Given the description of an element on the screen output the (x, y) to click on. 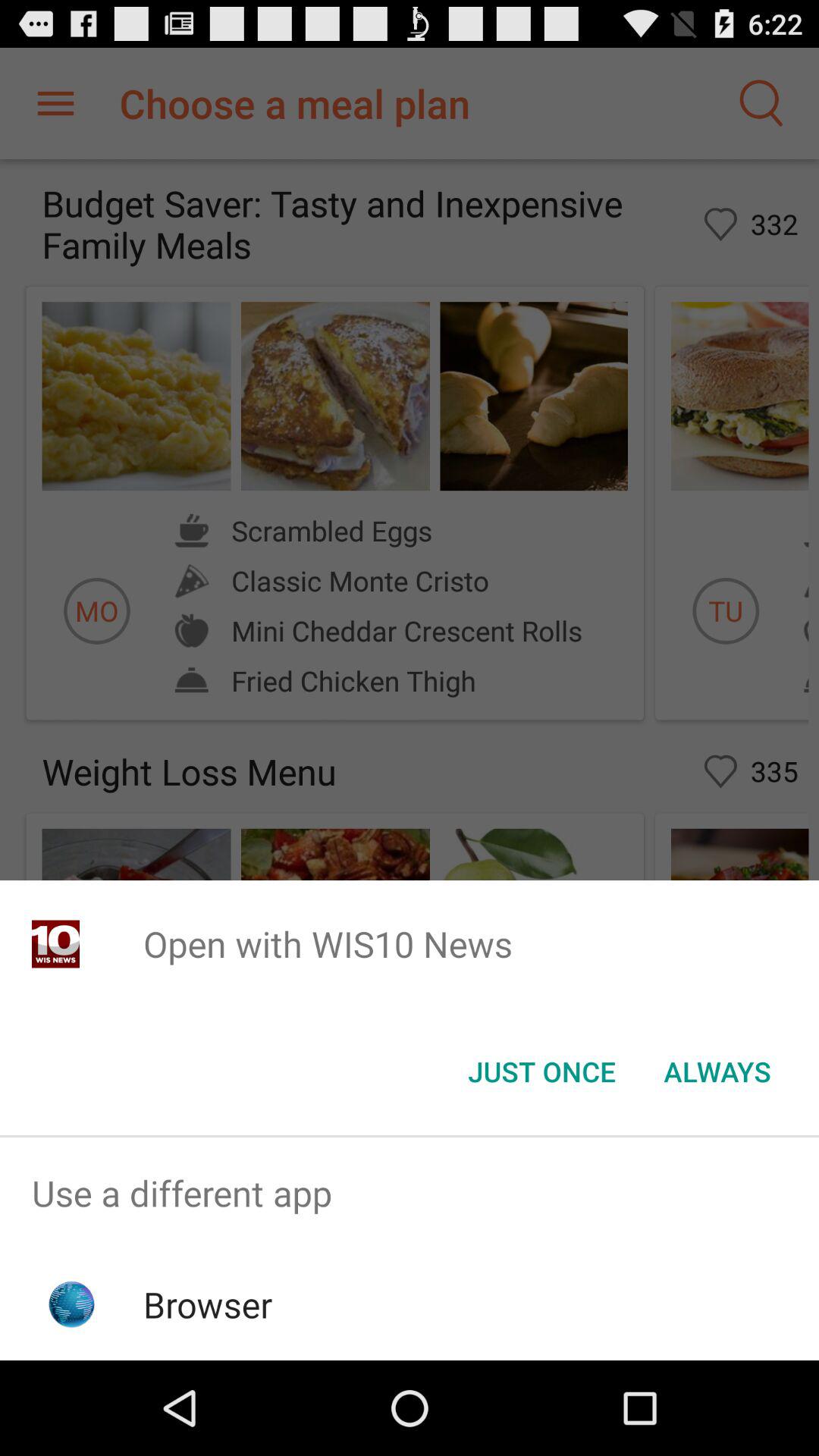
tap the just once item (541, 1071)
